Given the description of an element on the screen output the (x, y) to click on. 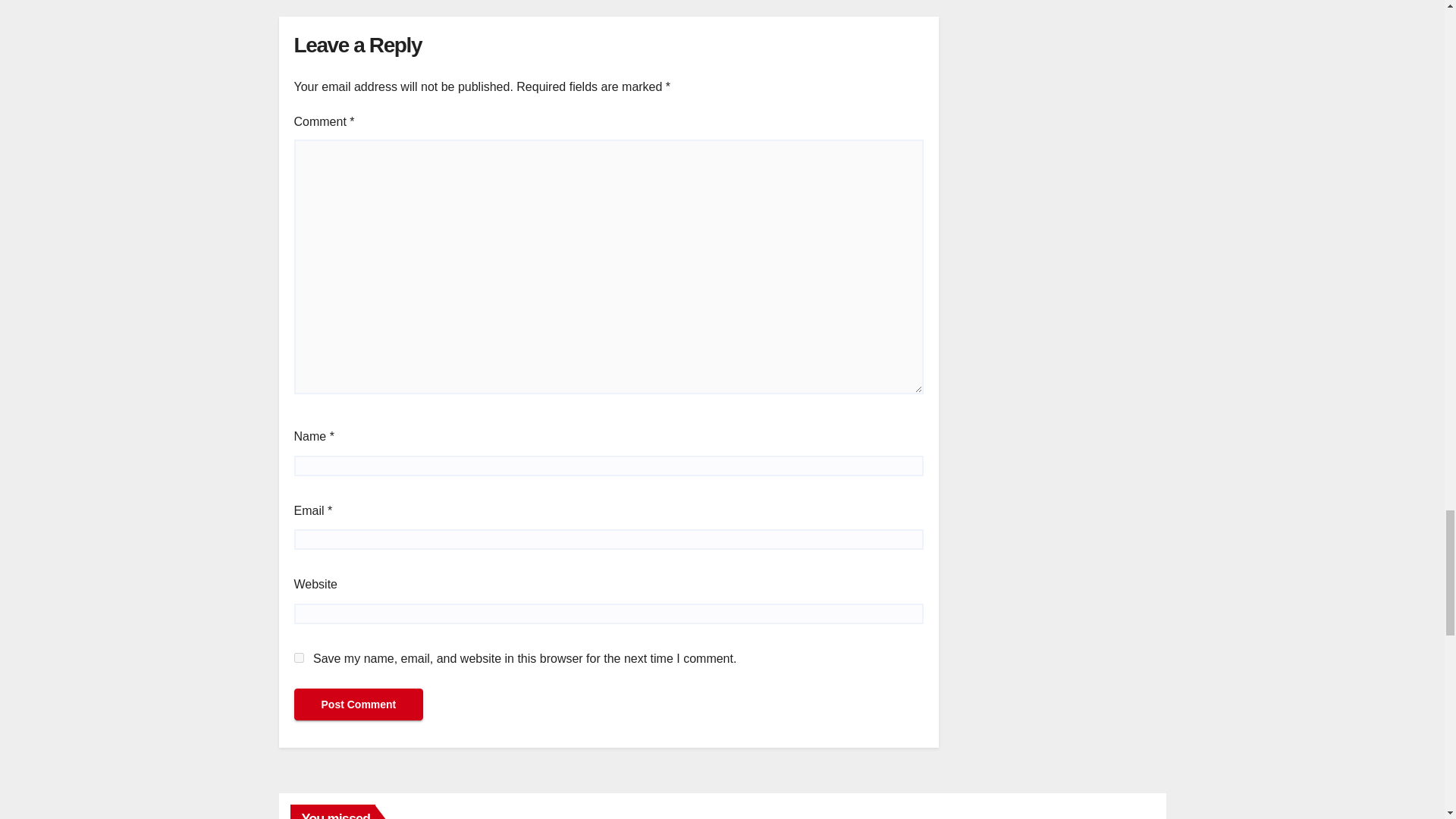
Post Comment (358, 704)
yes (299, 657)
